Given the description of an element on the screen output the (x, y) to click on. 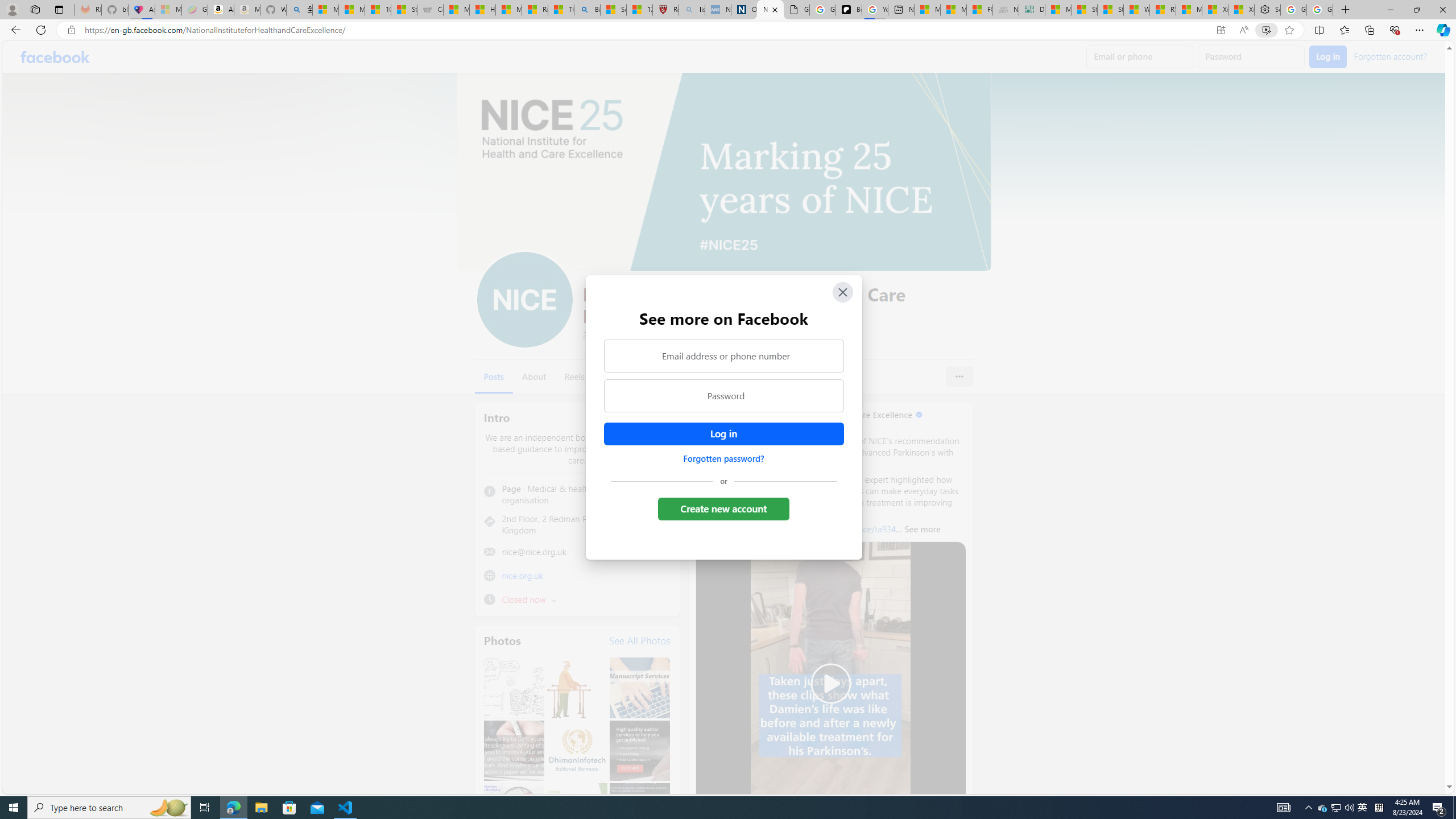
Create new account (724, 508)
Asthma Inhalers: Names and Types (141, 9)
App available. Install Facebook (1220, 29)
Email or phone (1139, 56)
